Given the description of an element on the screen output the (x, y) to click on. 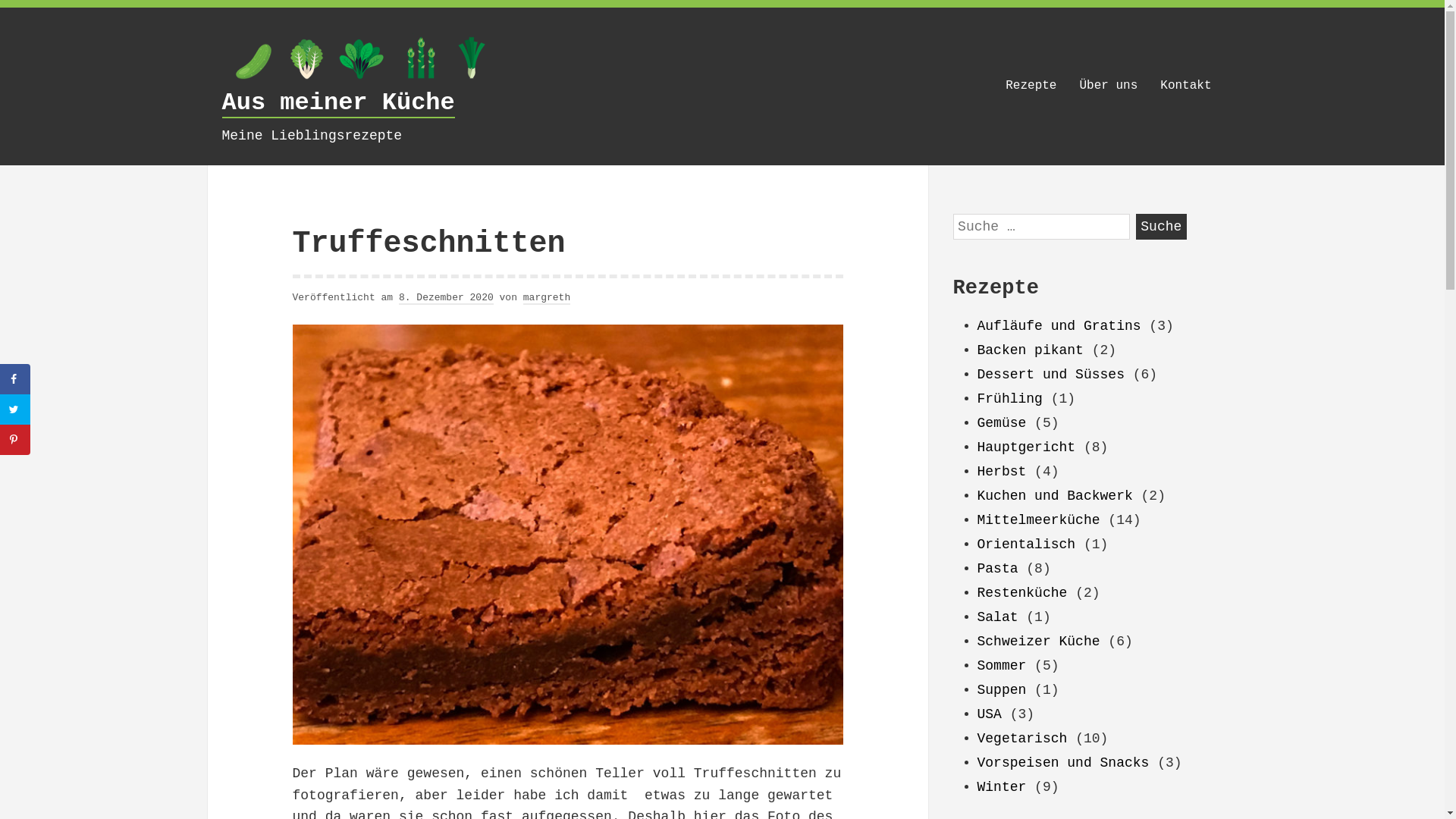
Backen pikant Element type: text (1029, 349)
Orientalisch Element type: text (1025, 544)
Save to Pinterest Element type: hover (15, 439)
Suche Element type: text (1160, 226)
Sommer Element type: text (1001, 665)
Share on Twitter Element type: hover (15, 409)
8. Dezember 2020 Element type: text (445, 297)
Salat Element type: text (996, 616)
Vorspeisen und Snacks Element type: text (1062, 762)
Share on Facebook Element type: hover (15, 379)
Hauptgericht Element type: text (1025, 447)
margreth Element type: text (546, 297)
USA Element type: text (988, 713)
Kontakt Element type: text (1185, 86)
Winter Element type: text (1001, 786)
Kuchen und Backwerk Element type: text (1054, 495)
Suppen Element type: text (1001, 689)
Vegetarisch Element type: text (1021, 738)
Rezepte Element type: text (1030, 86)
Zum Footer springen Element type: text (952, 213)
Herbst Element type: text (1001, 471)
Pasta Element type: text (996, 568)
